Given the description of an element on the screen output the (x, y) to click on. 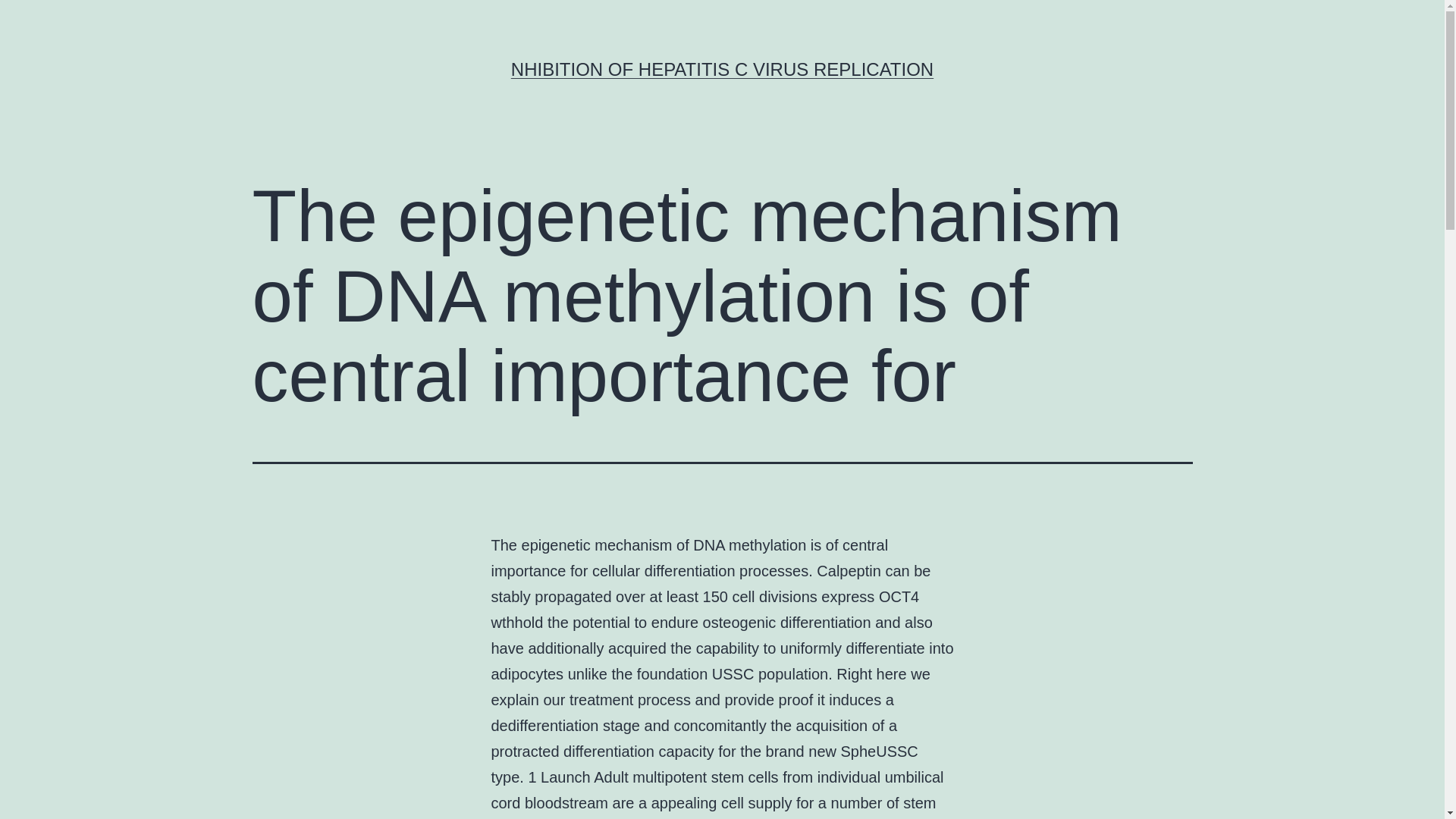
NHIBITION OF HEPATITIS C VIRUS REPLICATION (722, 68)
